Given the description of an element on the screen output the (x, y) to click on. 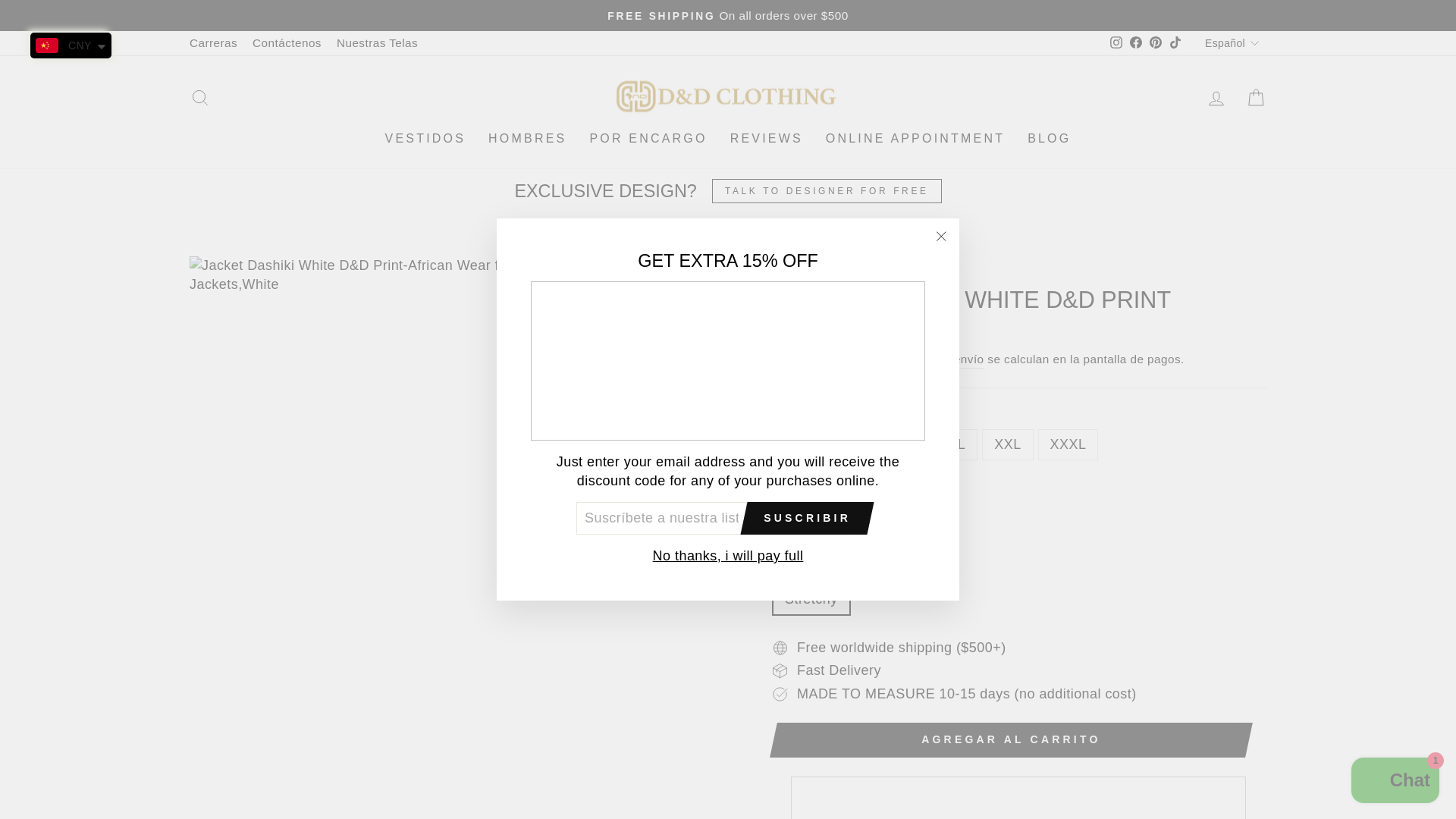
Volver a la portada (784, 271)
